Given the description of an element on the screen output the (x, y) to click on. 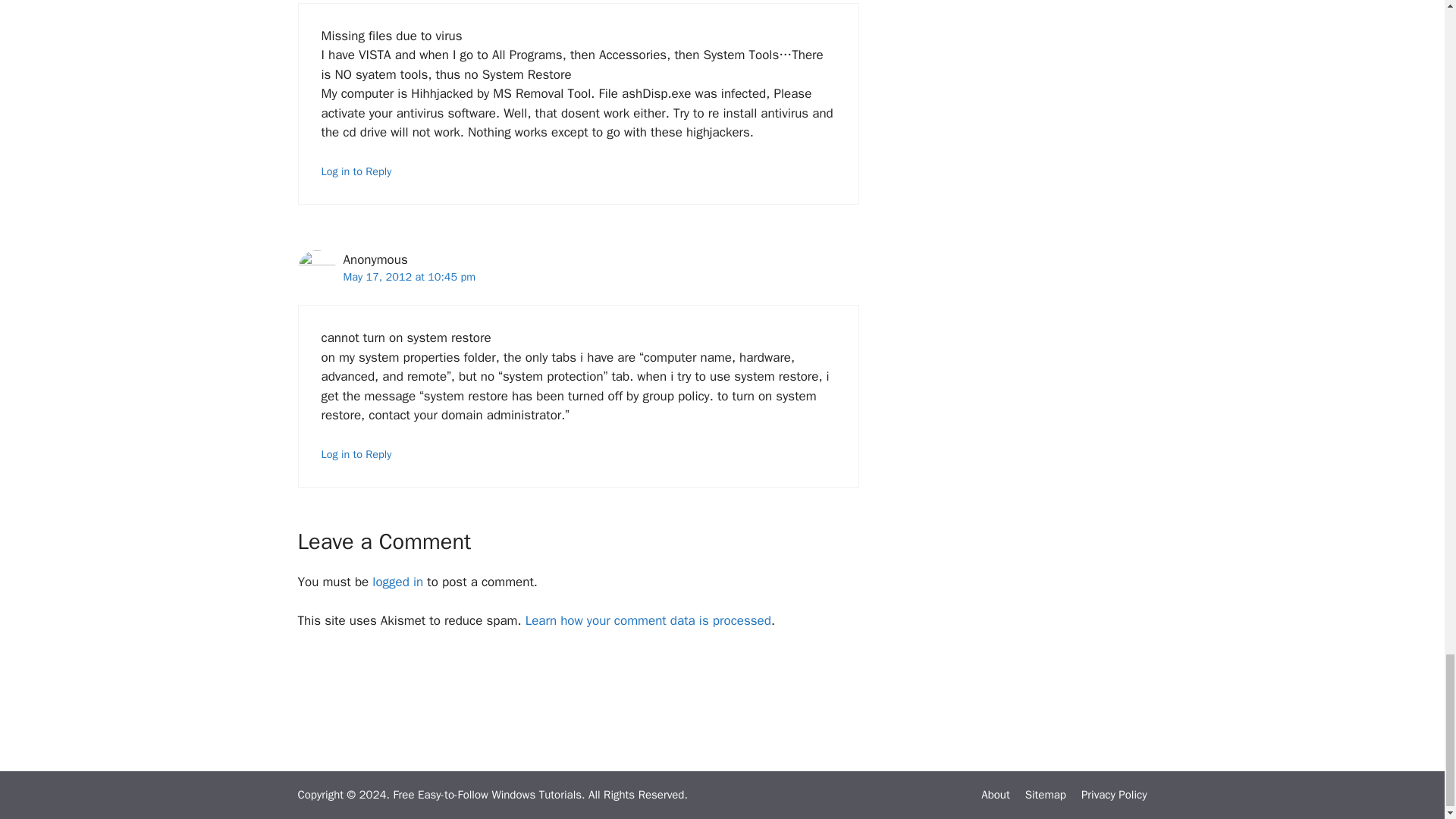
Log in to Reply (356, 454)
logged in (397, 581)
May 17, 2012 at 10:45 pm (409, 276)
Learn how your comment data is processed (648, 620)
Log in to Reply (356, 171)
